Given the description of an element on the screen output the (x, y) to click on. 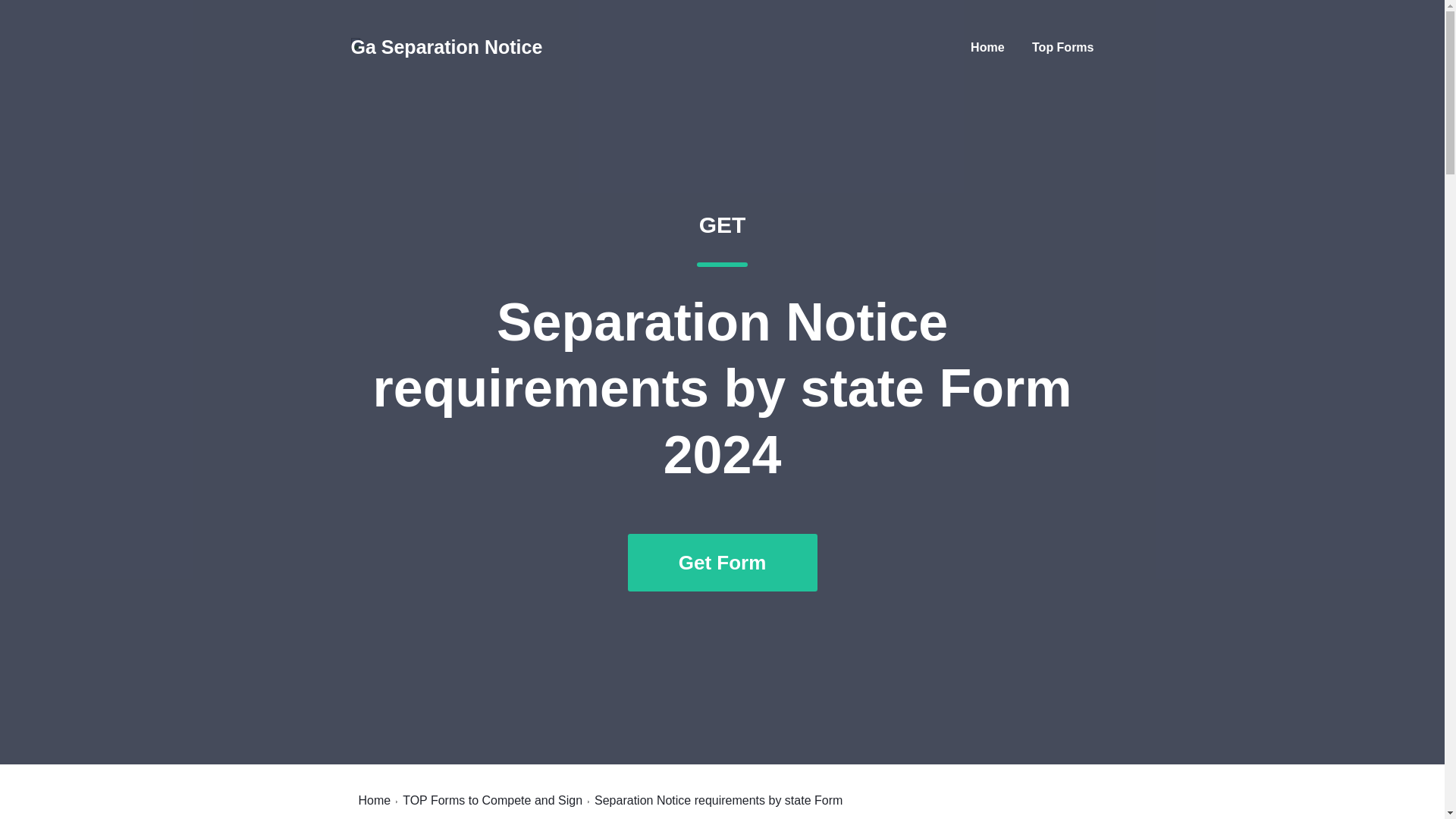
Ga Separation Notice (445, 46)
Top Forms (1062, 47)
TOP Forms to Compete and Sign (492, 800)
Home (987, 47)
Home (374, 800)
